Given the description of an element on the screen output the (x, y) to click on. 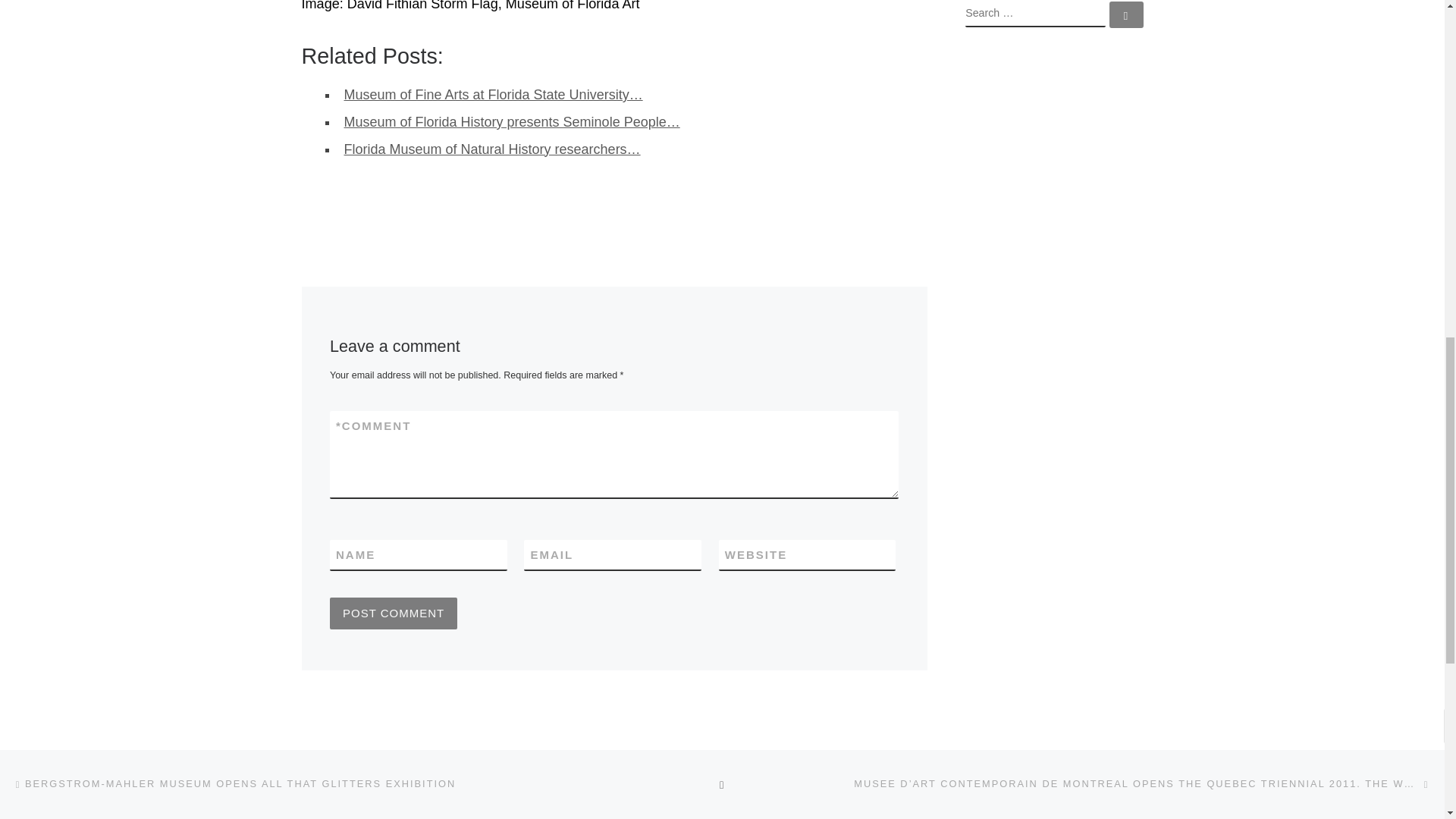
Post Comment (393, 613)
Back to post list (722, 783)
Post Comment (393, 613)
